Given the description of an element on the screen output the (x, y) to click on. 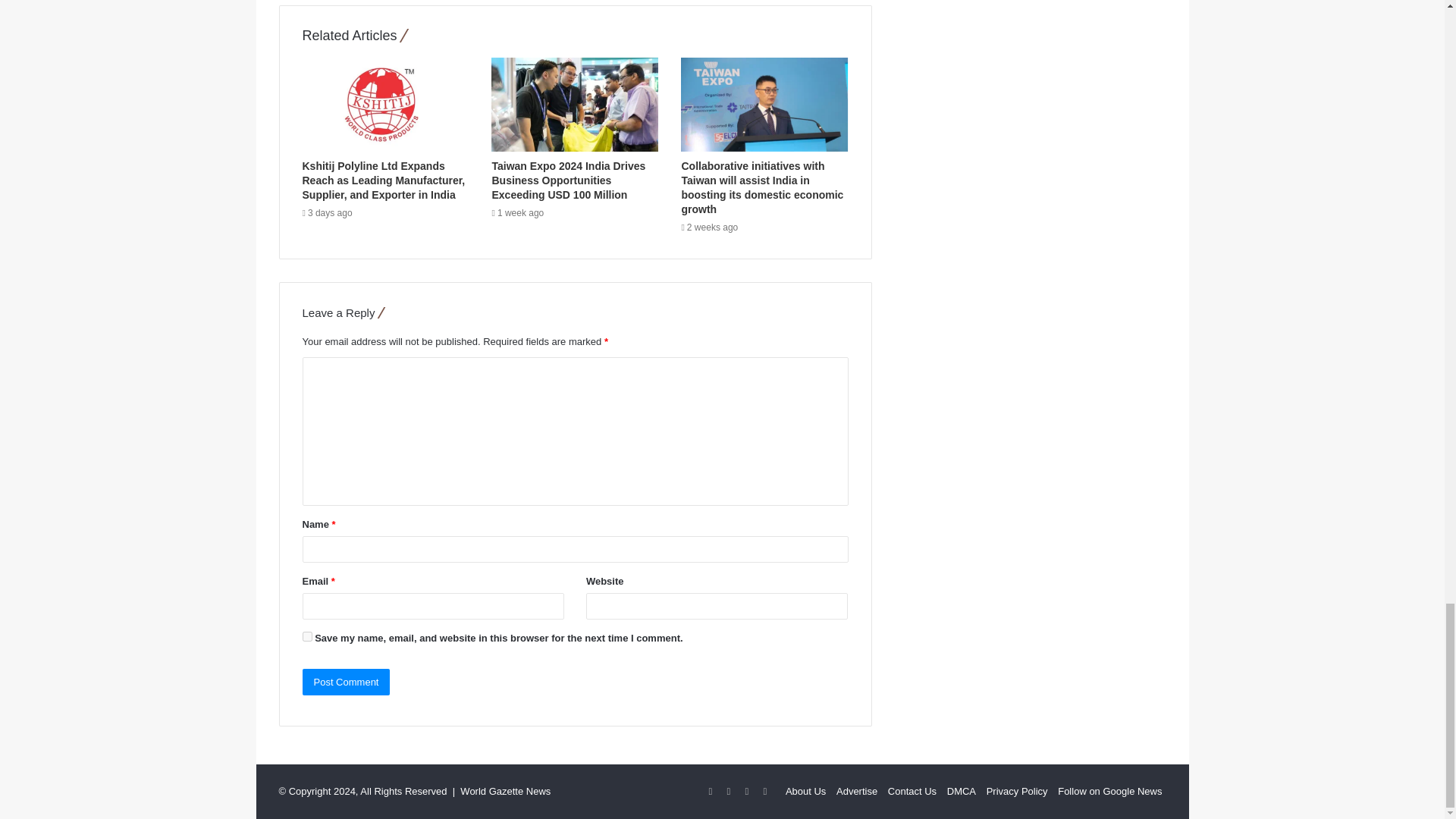
yes (306, 636)
Post Comment (345, 682)
